Given the description of an element on the screen output the (x, y) to click on. 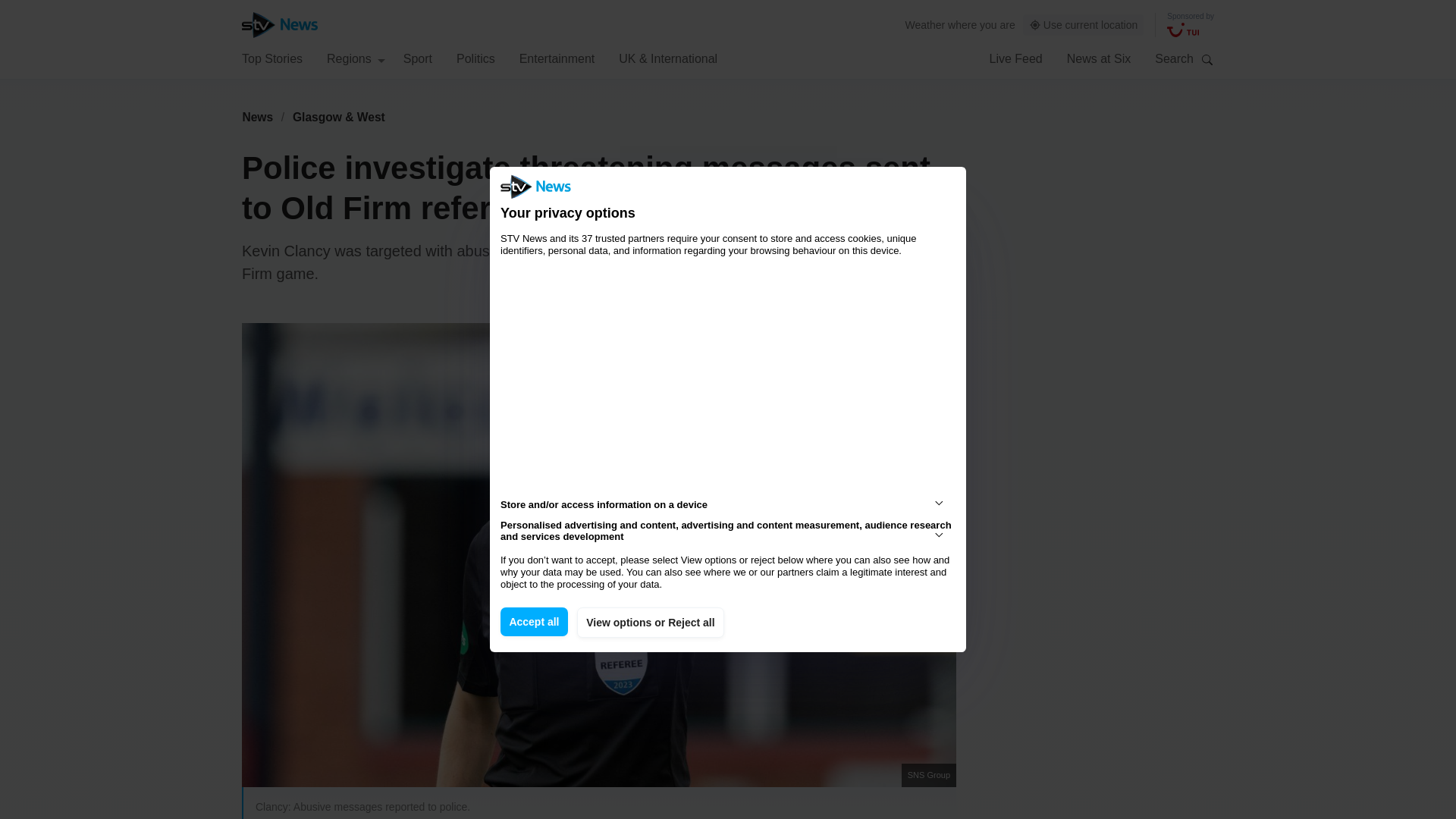
Entertainment (557, 57)
Use current location (1083, 25)
Regions (355, 57)
Top Stories (271, 57)
Politics (476, 57)
Live Feed (1015, 57)
Search (1206, 59)
Weather (924, 24)
News (257, 116)
